Given the description of an element on the screen output the (x, y) to click on. 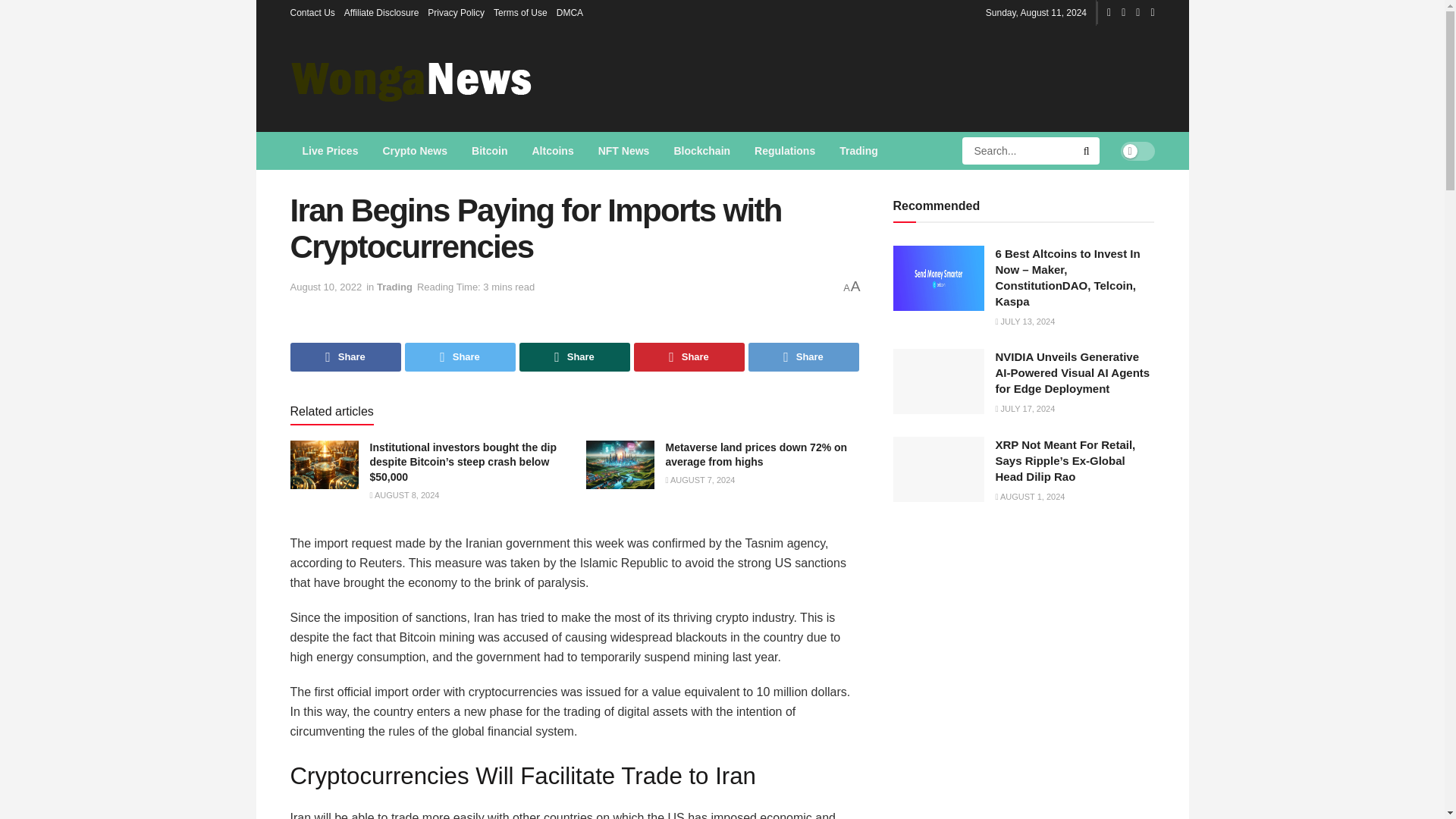
August 10, 2022 (325, 286)
Terms of Use (520, 12)
Live Prices (329, 150)
NFT News (624, 150)
Altcoins (552, 150)
DMCA (569, 12)
Privacy Policy (456, 12)
Trading (394, 286)
Crypto News (414, 150)
Trading (858, 150)
